Given the description of an element on the screen output the (x, y) to click on. 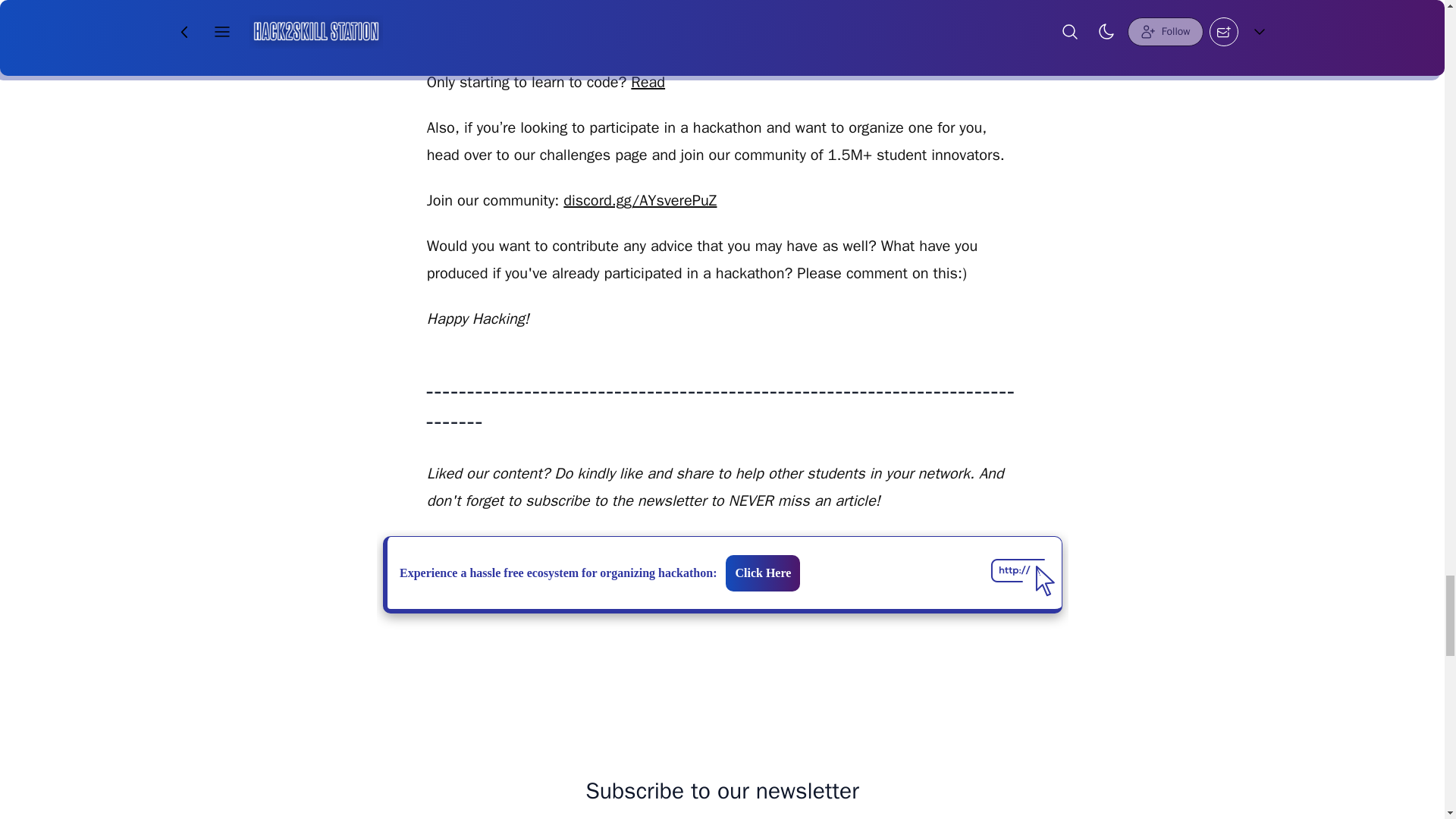
Read (647, 81)
